Given the description of an element on the screen output the (x, y) to click on. 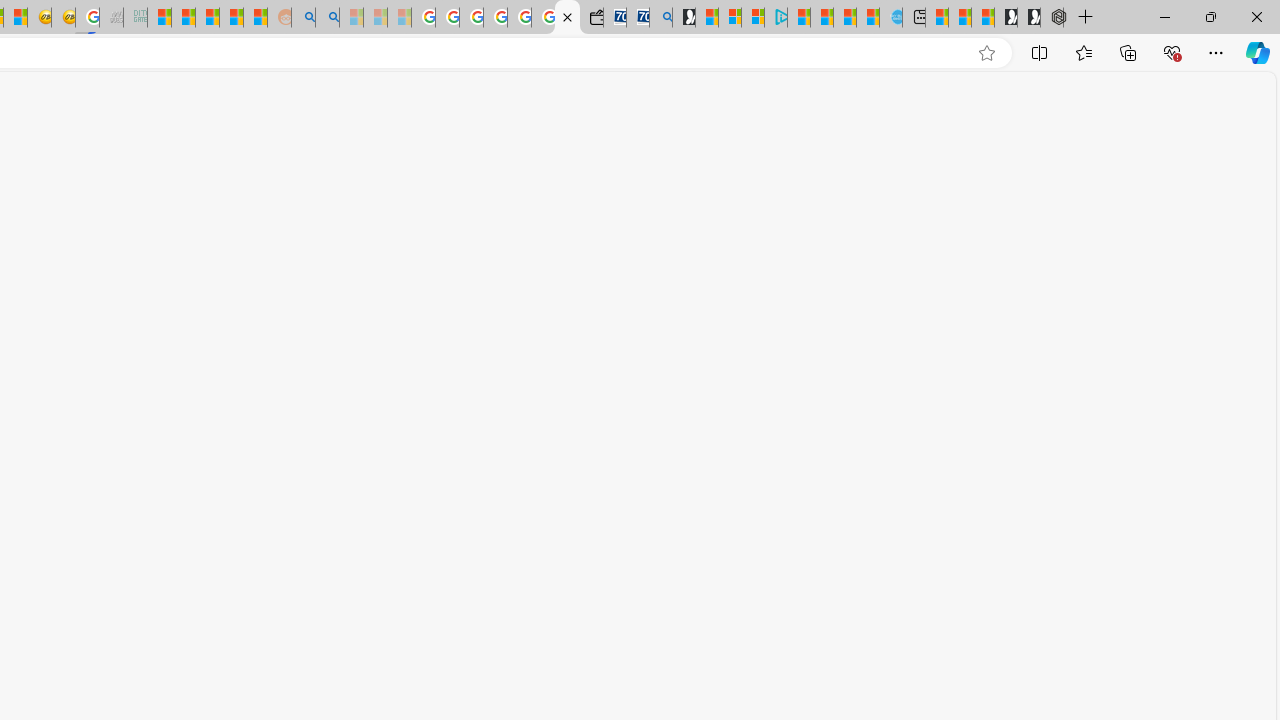
Bing Real Estate - Home sales and rental listings (660, 17)
Student Loan Update: Forgiveness Program Ends This Month (231, 17)
